Given the description of an element on the screen output the (x, y) to click on. 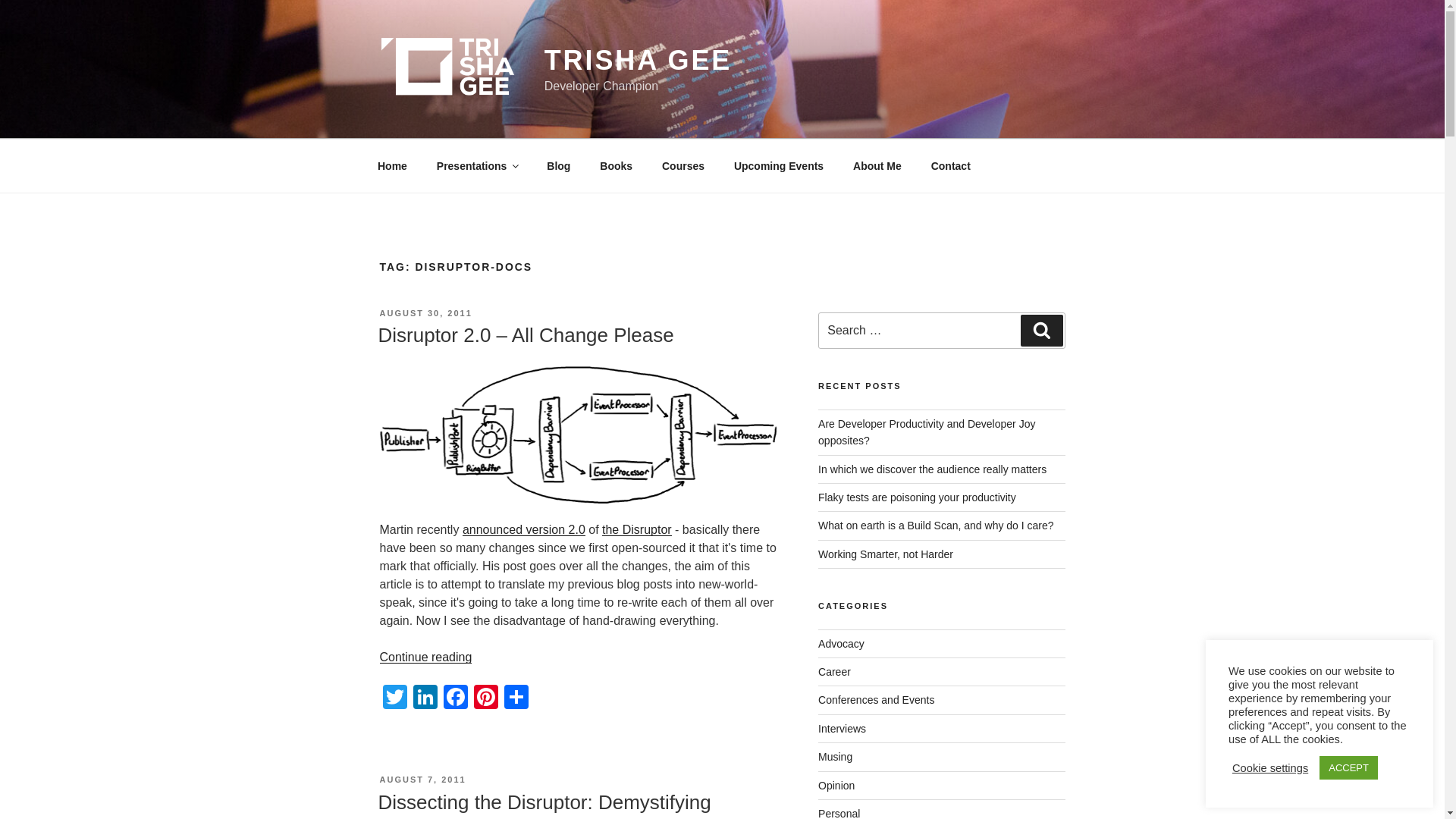
Books (616, 165)
Pinterest (485, 698)
LinkedIn (424, 698)
Share (515, 698)
Home (392, 165)
Dissecting the Disruptor: Demystifying Memory Barriers (543, 805)
Pinterest (485, 698)
Upcoming Events (777, 165)
Twitter (393, 698)
announced version 2.0 (524, 529)
Facebook (454, 698)
AUGUST 30, 2011 (424, 312)
Courses (682, 165)
Facebook (454, 698)
LinkedIn (424, 698)
